Given the description of an element on the screen output the (x, y) to click on. 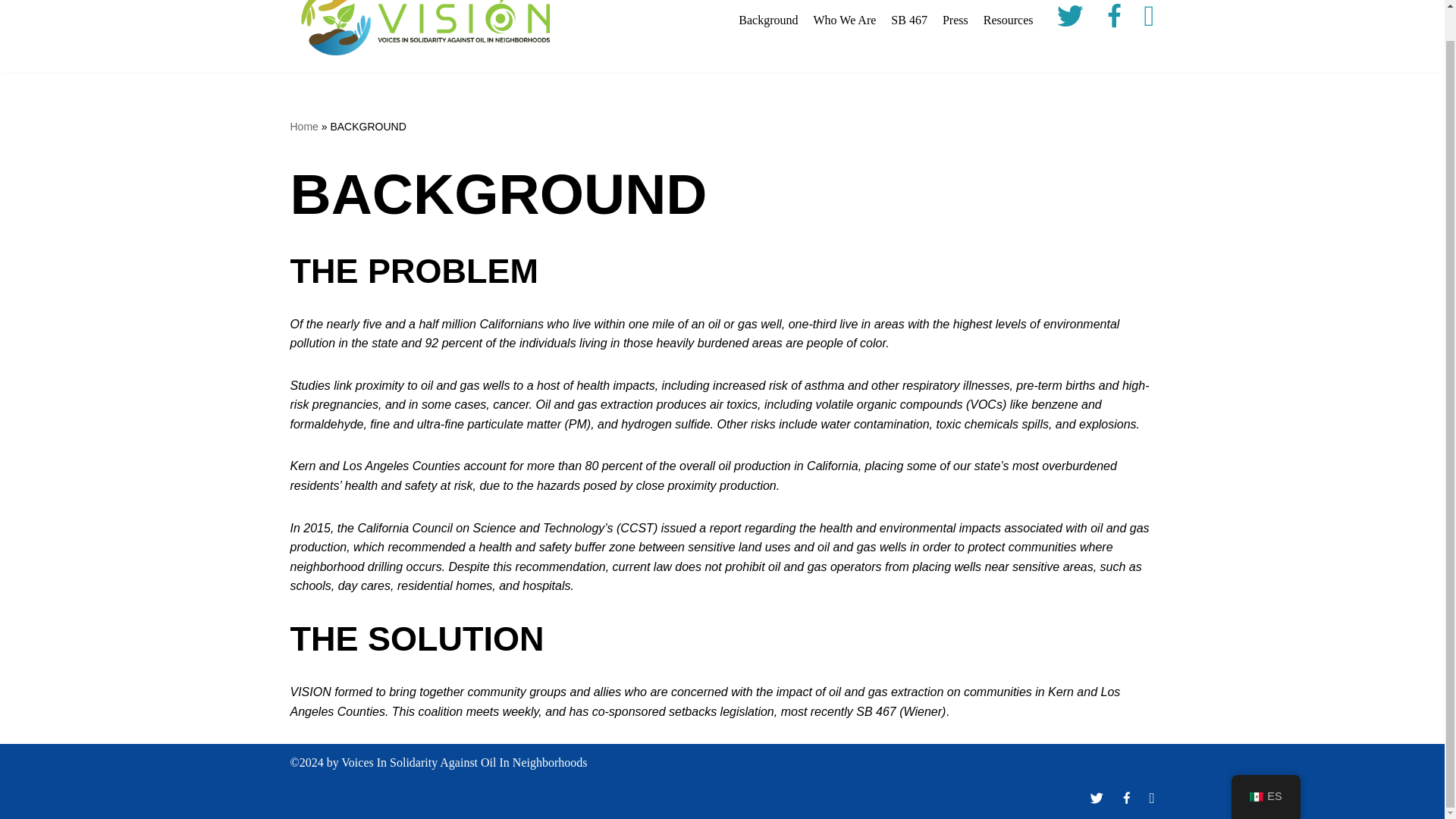
VISION (421, 29)
Resources (1008, 20)
Who We Are (844, 20)
Press (955, 20)
SB 467 (909, 20)
Facebook (1113, 19)
Skip to content (11, 3)
ES (1265, 764)
Home (303, 126)
Background (767, 20)
Twitter (1069, 19)
